Given the description of an element on the screen output the (x, y) to click on. 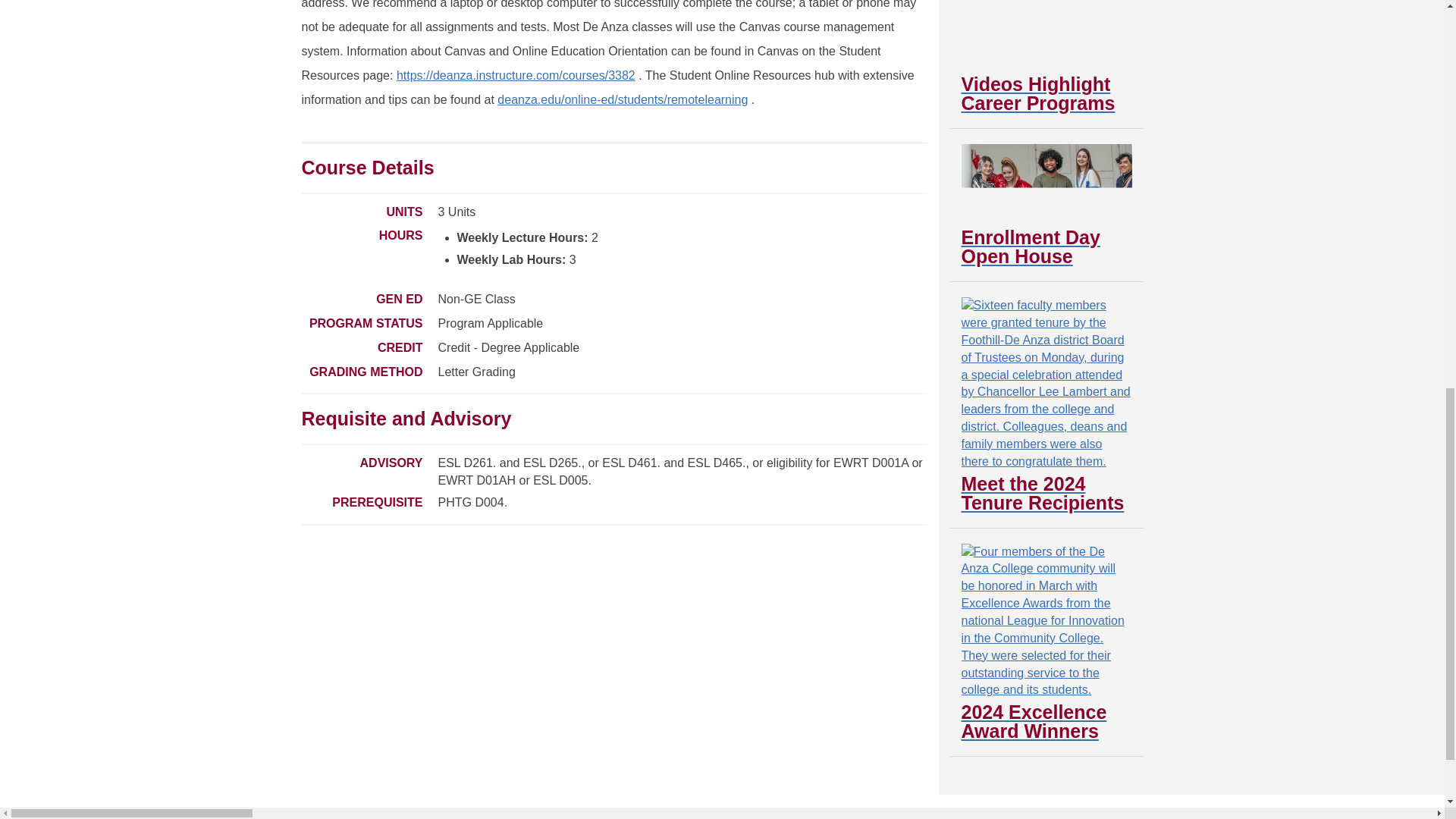
Enrollment Day Open House (1046, 205)
Videos Highlight Career Programs (1046, 56)
